Given the description of an element on the screen output the (x, y) to click on. 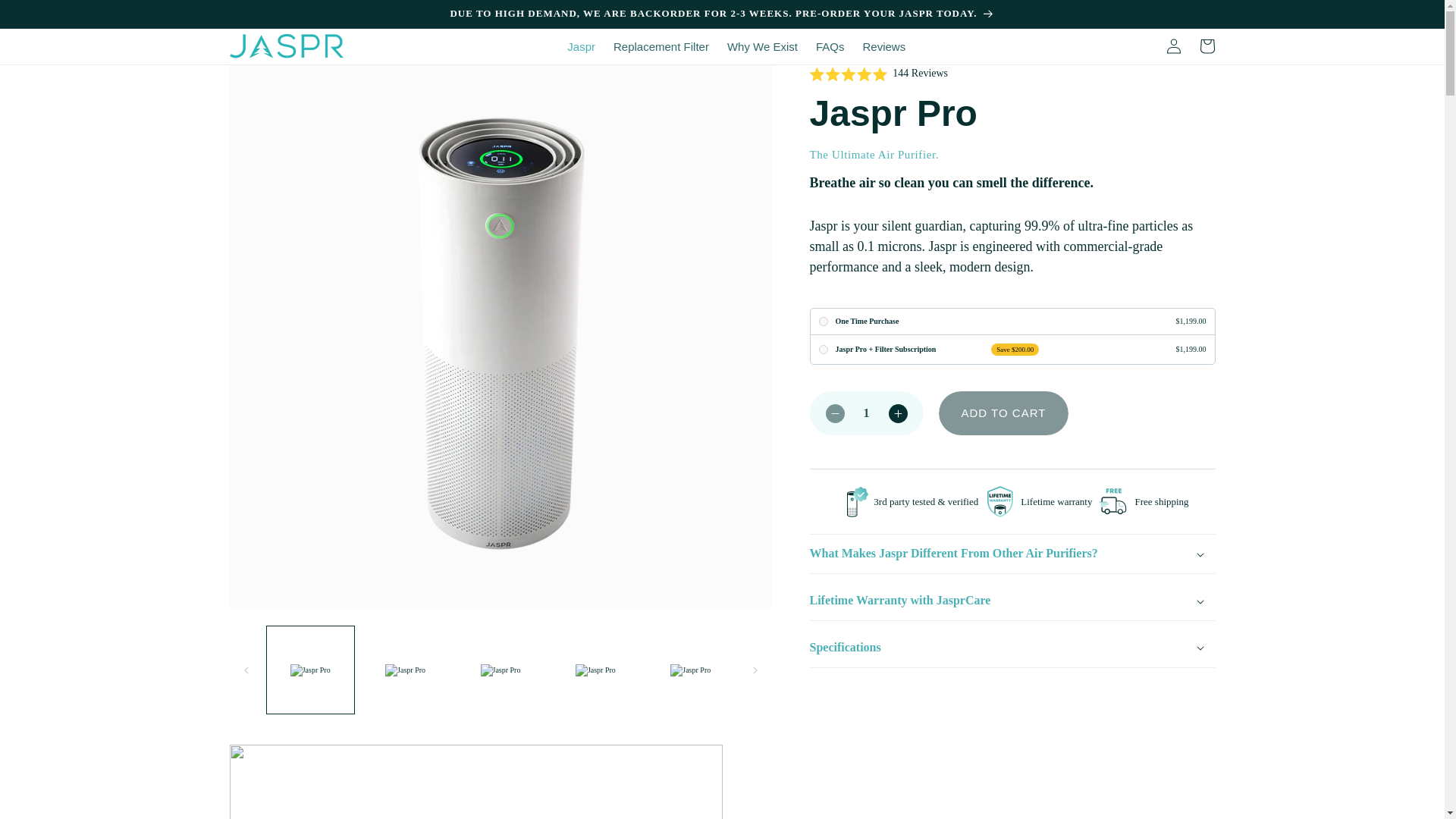
1 (865, 412)
Log in (1174, 46)
Jaspr (580, 46)
Why We Exist (761, 46)
Cart (1207, 46)
on (823, 348)
Decrease quantity for Jaspr Pro (833, 412)
Skip to product information (274, 81)
Skip to content (45, 16)
Reviews (883, 46)
